Given the description of an element on the screen output the (x, y) to click on. 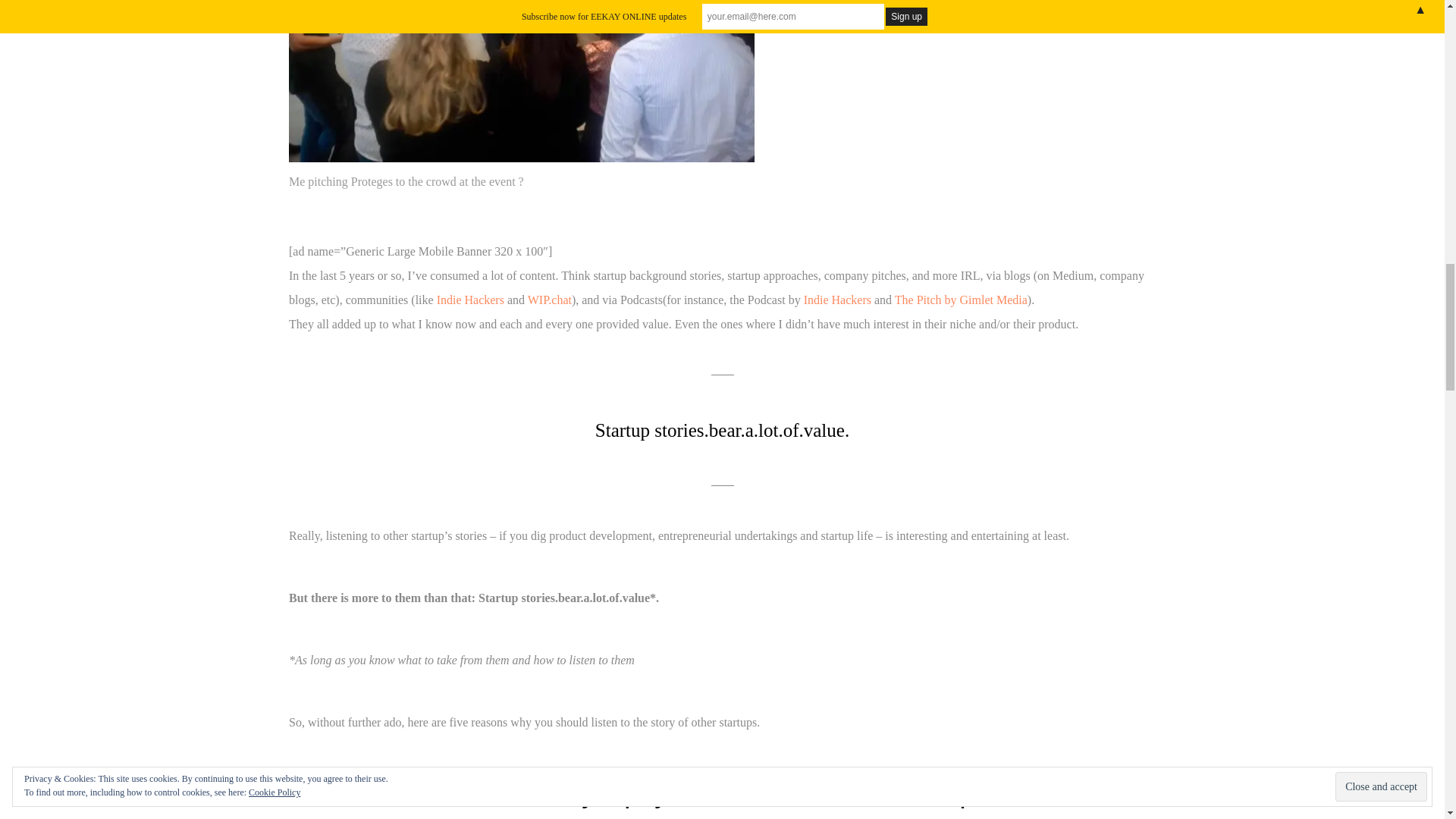
Indie Hackers (836, 299)
WIP.chat (549, 299)
The Pitch by Gimlet Media (961, 299)
Indie Hackers (469, 299)
